Given the description of an element on the screen output the (x, y) to click on. 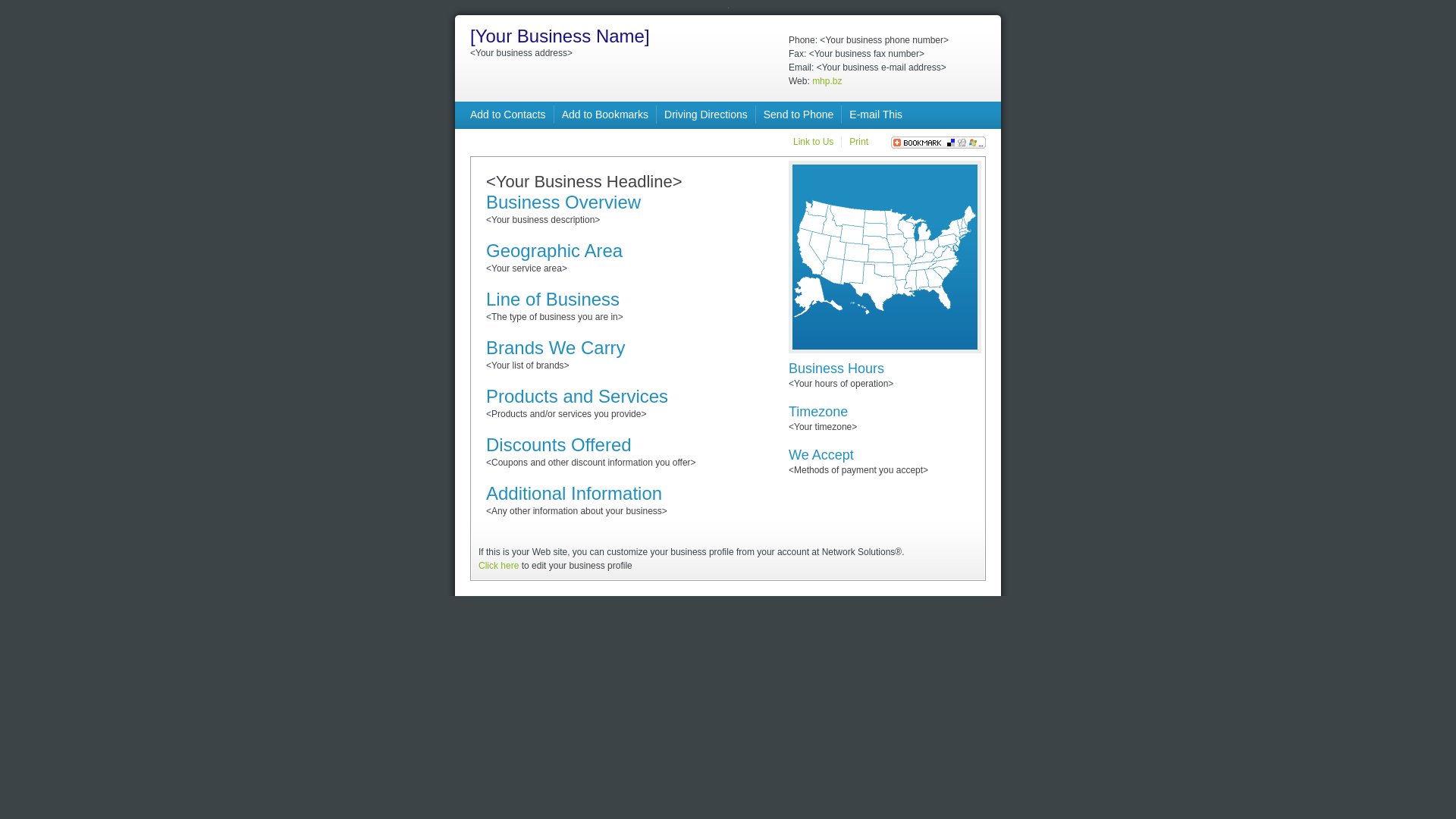
Link to Us Element type: text (813, 141)
Print Element type: text (858, 141)
E-mail This Element type: text (875, 114)
mhp.bz Element type: text (826, 80)
Driving Directions Element type: text (705, 114)
Add to Bookmarks Element type: text (604, 114)
Send to Phone Element type: text (798, 114)
Click here Element type: text (498, 565)
Add to Contacts Element type: text (508, 114)
